Given the description of an element on the screen output the (x, y) to click on. 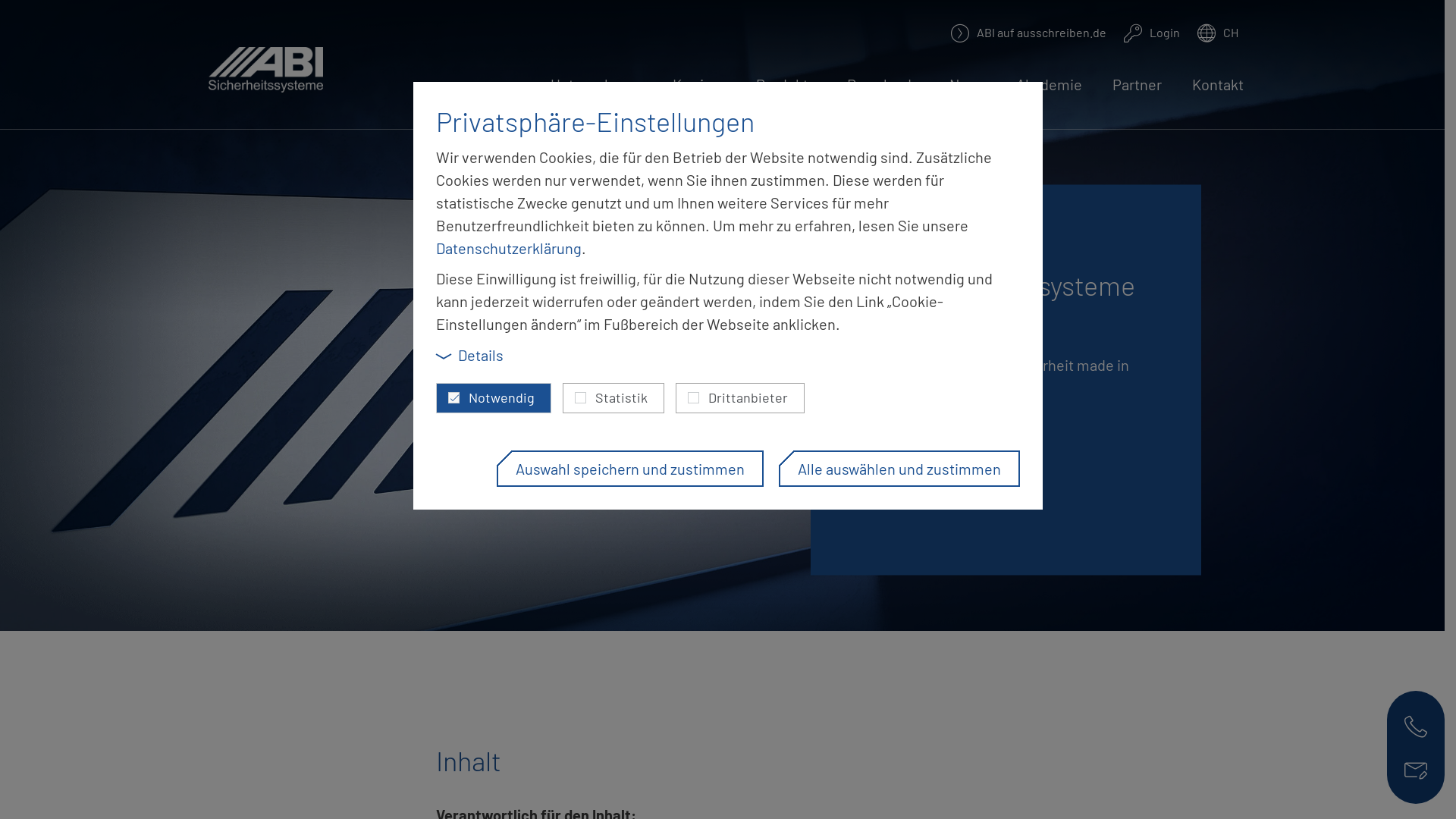
CH Element type: text (1217, 32)
Details Element type: text (469, 355)
News Element type: text (967, 92)
Auswahl speichern und zustimmen Element type: text (629, 468)
Login Element type: text (1151, 32)
